Given the description of an element on the screen output the (x, y) to click on. 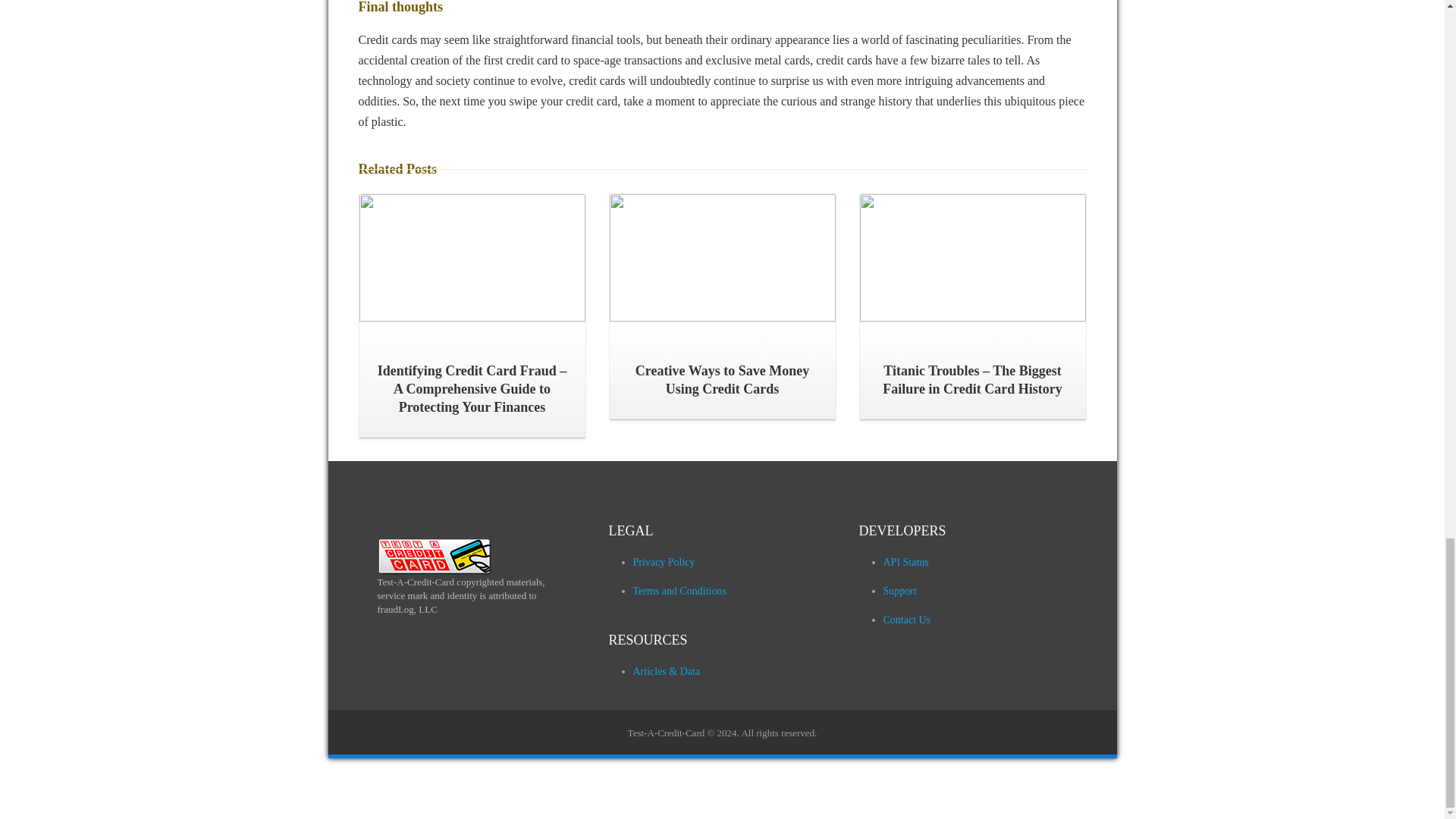
Terms and Conditions (678, 591)
Privacy Policy (662, 562)
Contact Us (906, 619)
Support (898, 591)
Creative Ways to Save Money Using Credit Cards (722, 370)
API Status (905, 562)
